Given the description of an element on the screen output the (x, y) to click on. 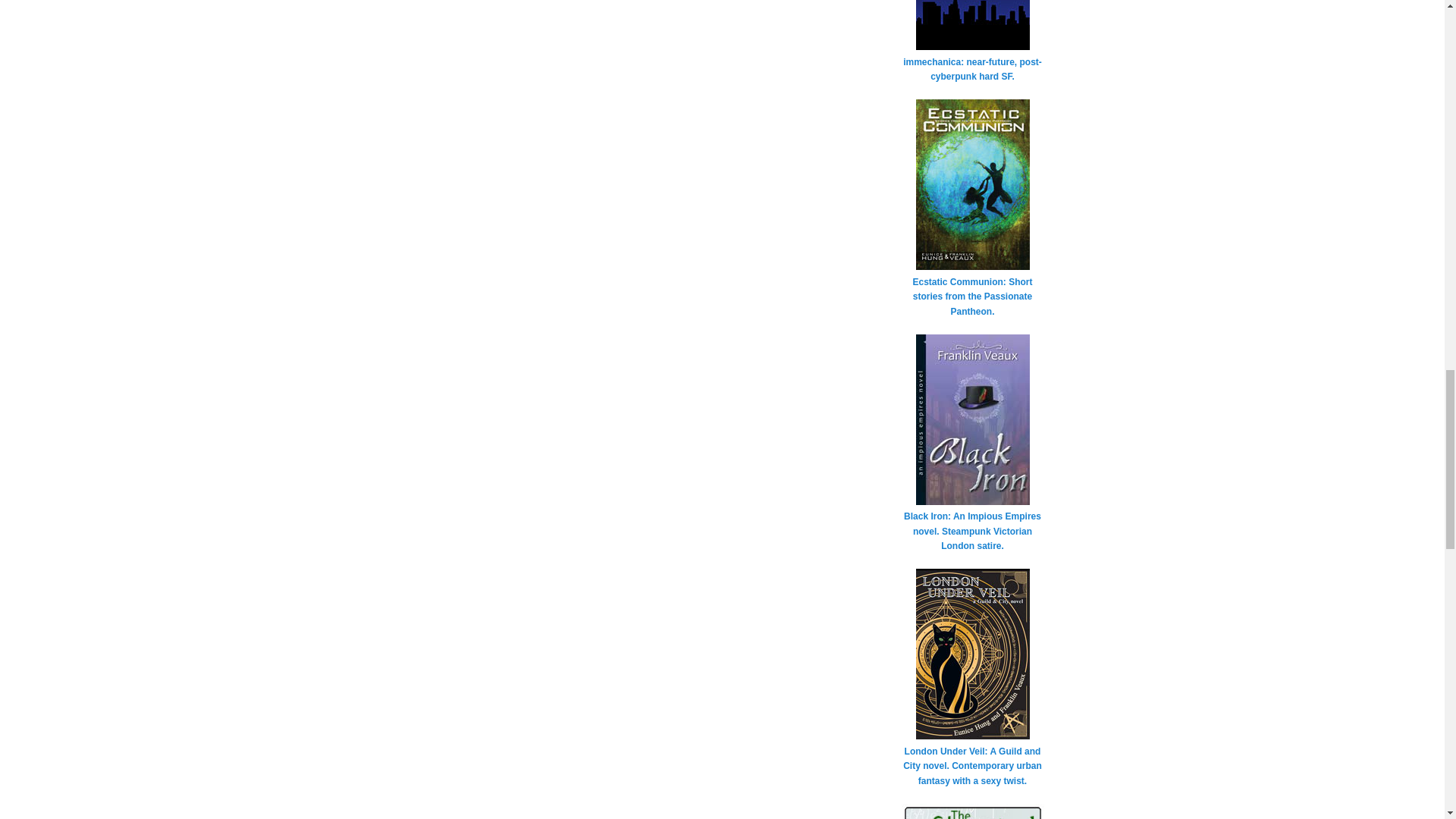
immechanica: near-future, post-cyberpunk hard SF. (972, 61)
The Skeptical Pervert Podcast (972, 811)
